Given the description of an element on the screen output the (x, y) to click on. 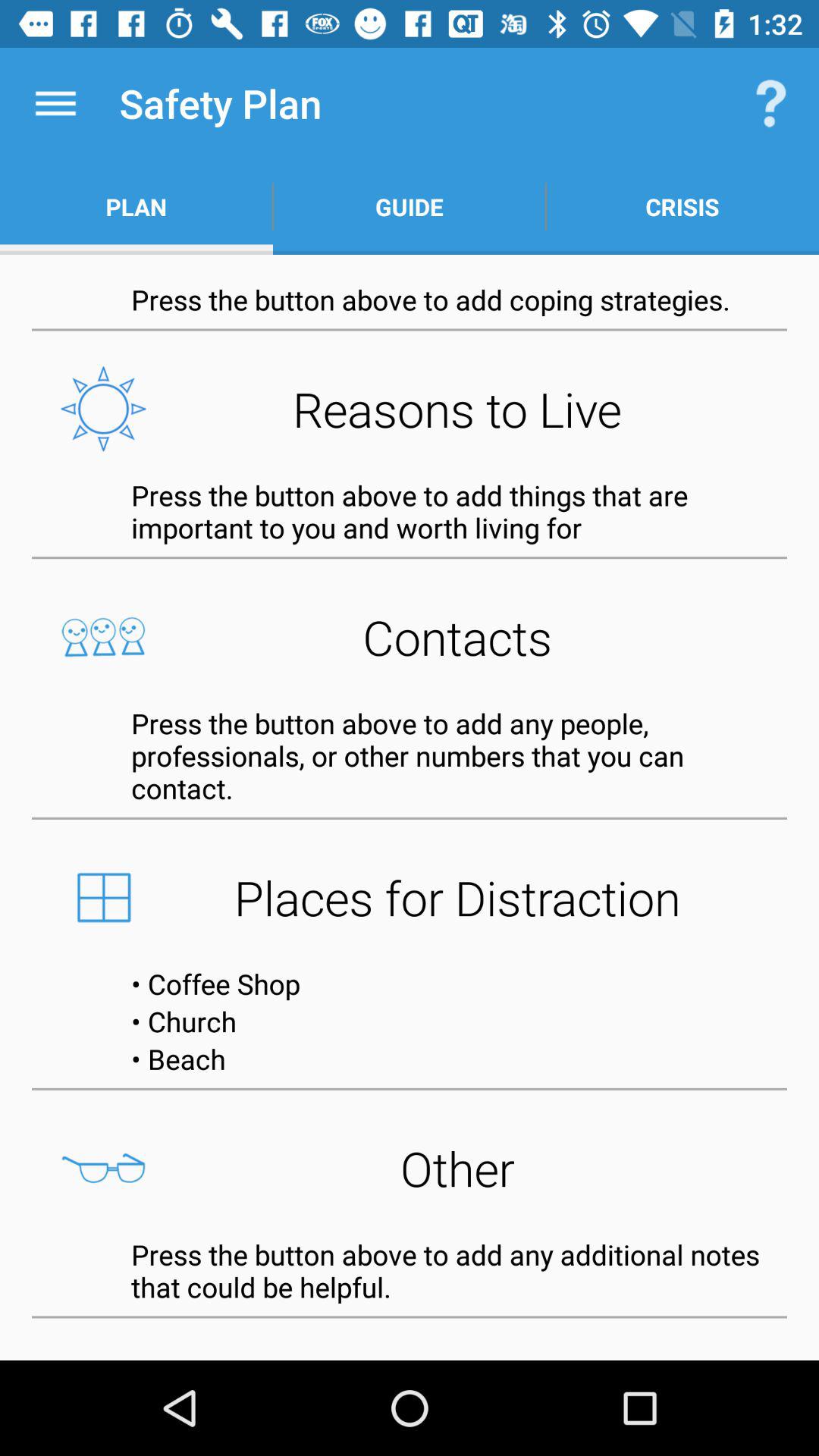
choose app next to the guide (771, 103)
